Given the description of an element on the screen output the (x, y) to click on. 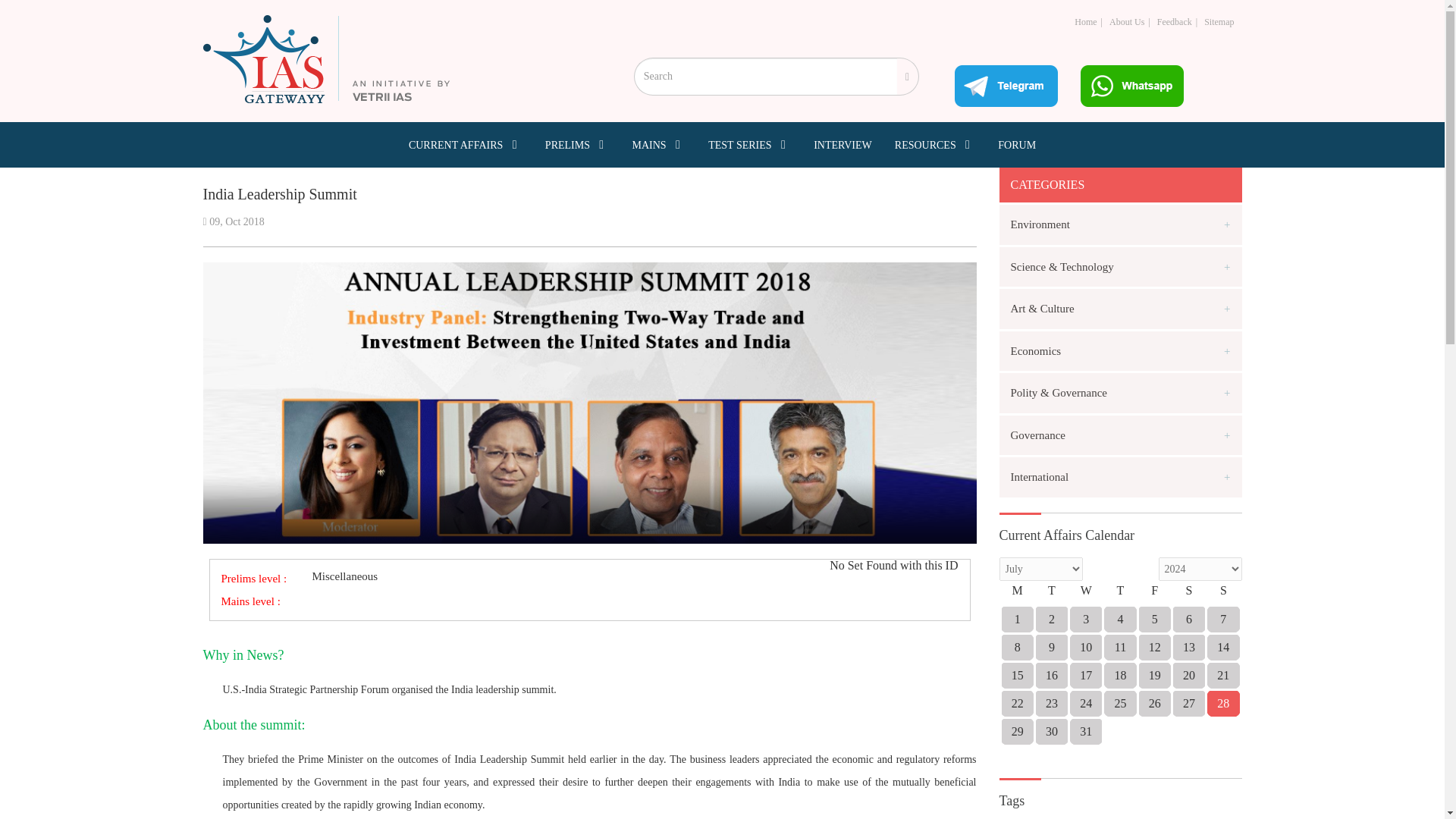
Environment (1119, 224)
TEST SERIES (748, 144)
Wednesday (1085, 594)
Monday (1016, 594)
International (1119, 477)
Economics (1119, 350)
Feedback (1174, 21)
CURRENT AFFAIRS (465, 144)
Sitemap (1218, 21)
About Us (1126, 21)
IAS Gatewayy (326, 59)
Tuesday (1050, 594)
PRELIMS (577, 144)
Home (1085, 21)
MAINS (658, 144)
